Given the description of an element on the screen output the (x, y) to click on. 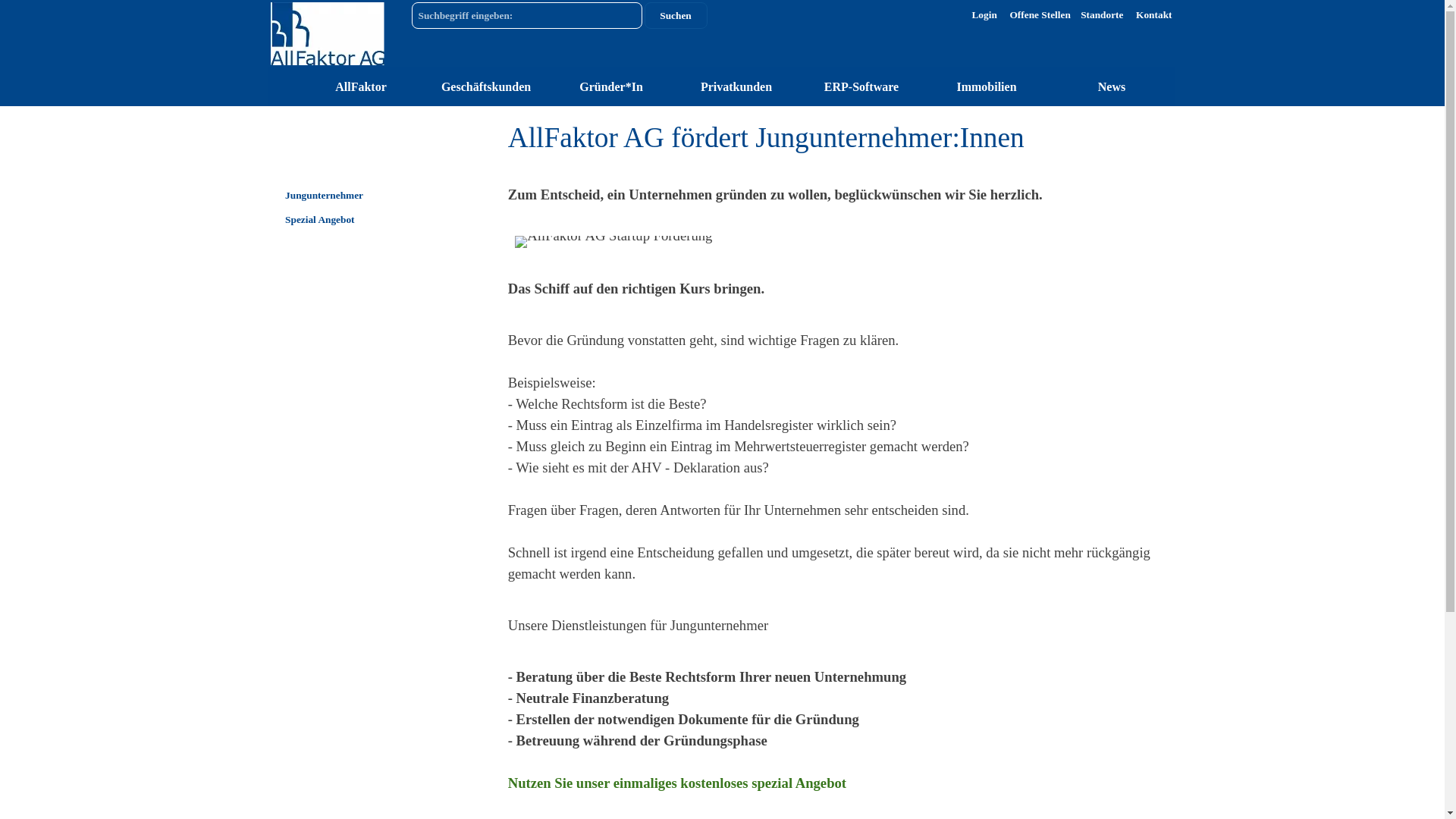
ERP-Software Element type: text (860, 86)
Privatkunden Element type: text (736, 86)
AllFaktor Element type: text (360, 86)
Suchen Element type: text (675, 15)
Jungunternehmer Element type: text (360, 195)
Spezial Angebot Element type: text (360, 219)
Immobilien Element type: text (986, 86)
Kontakt Element type: text (1153, 14)
Login Element type: text (983, 14)
Offene Stellen Element type: text (1039, 14)
Standorte Element type: text (1101, 14)
Nutzen Sie unser einmaliges kostenloses spezial Angebot Element type: text (677, 782)
News Element type: text (1111, 86)
AllFaktor AG Treuhand, Unternehmensberatung, Steuerberatung Element type: hover (326, 33)
